Given the description of an element on the screen output the (x, y) to click on. 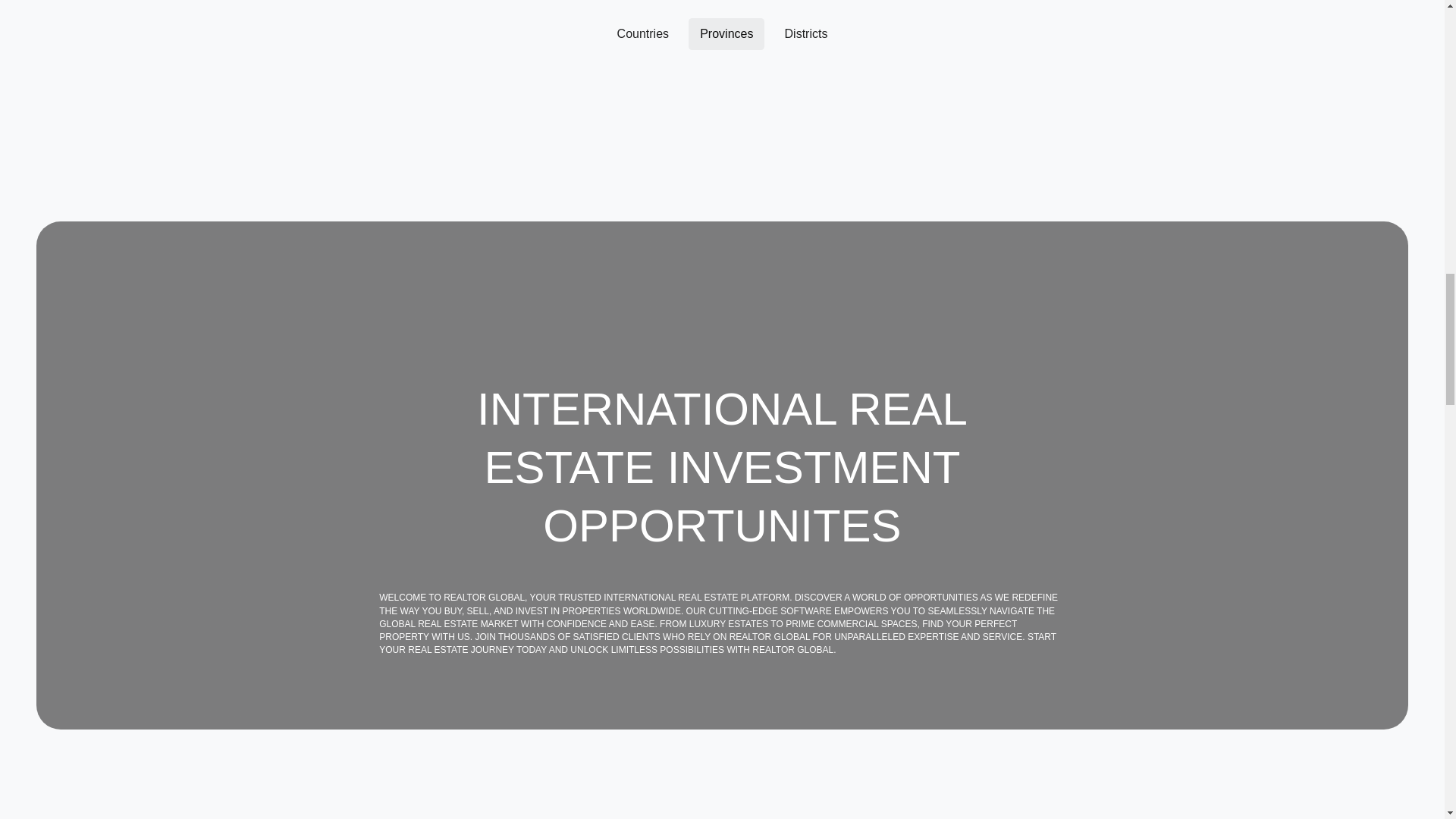
Countries (642, 33)
Districts (806, 33)
Provinces (726, 33)
